Given the description of an element on the screen output the (x, y) to click on. 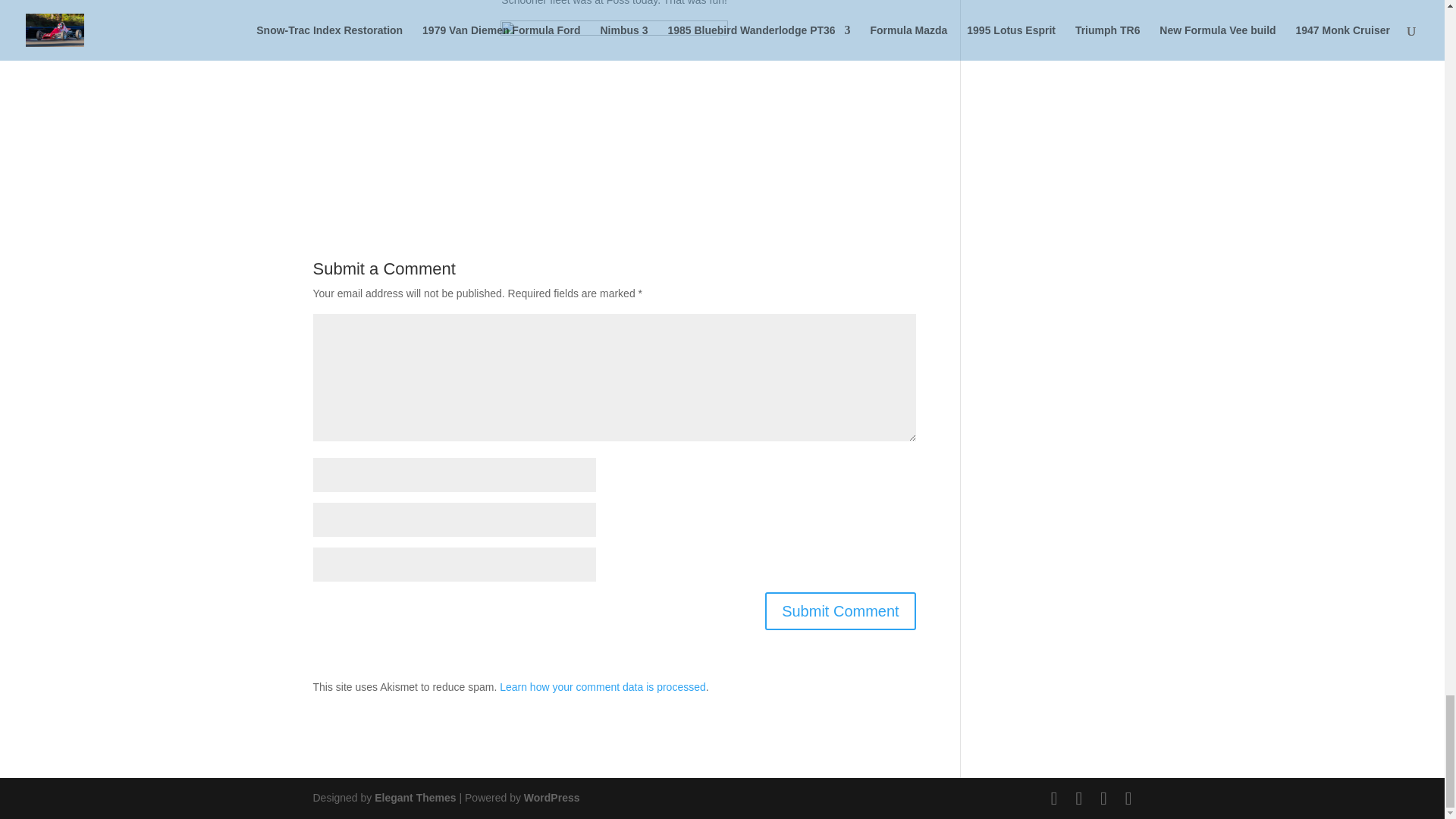
Submit Comment (840, 610)
